Given the description of an element on the screen output the (x, y) to click on. 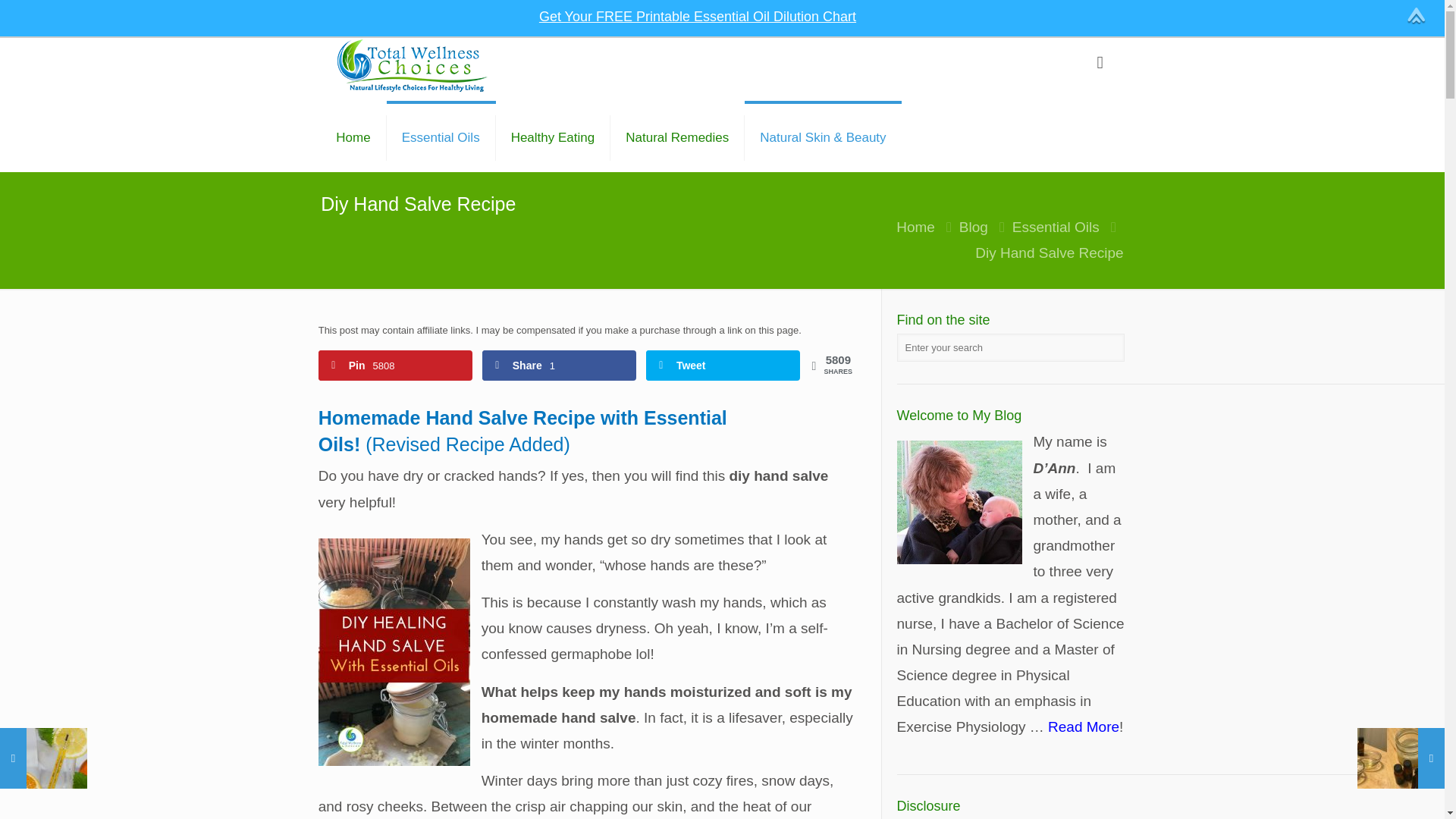
Share1 (558, 365)
Essential Oils (441, 137)
Tweet (722, 365)
Home (352, 137)
Essential Oils (1055, 227)
Natural Remedies (677, 137)
Blog (973, 227)
Healthy Eating (553, 137)
Home (915, 227)
Total Wellness Choices (411, 65)
